Given the description of an element on the screen output the (x, y) to click on. 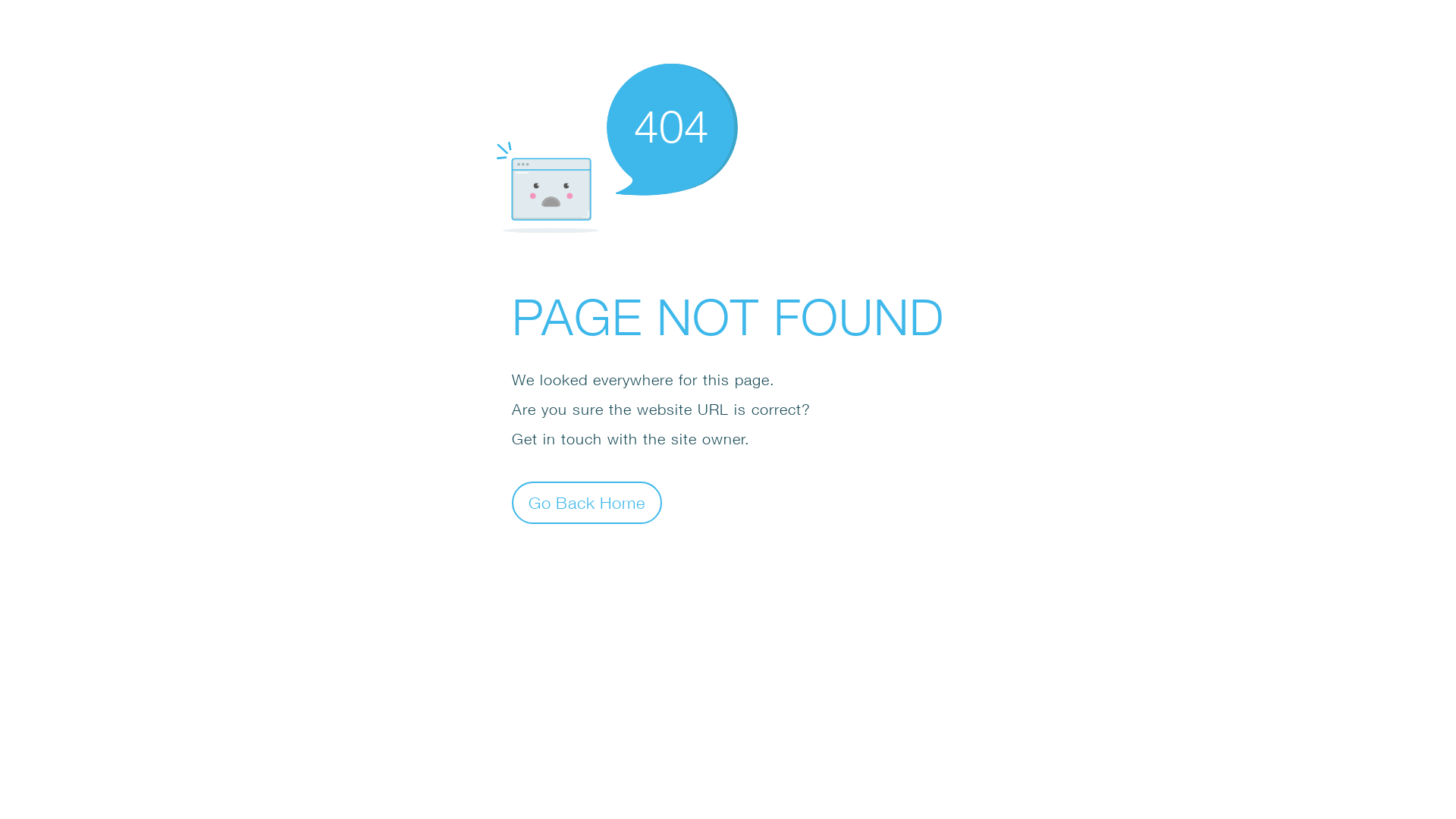
Go Back Home Element type: text (586, 502)
